Given the description of an element on the screen output the (x, y) to click on. 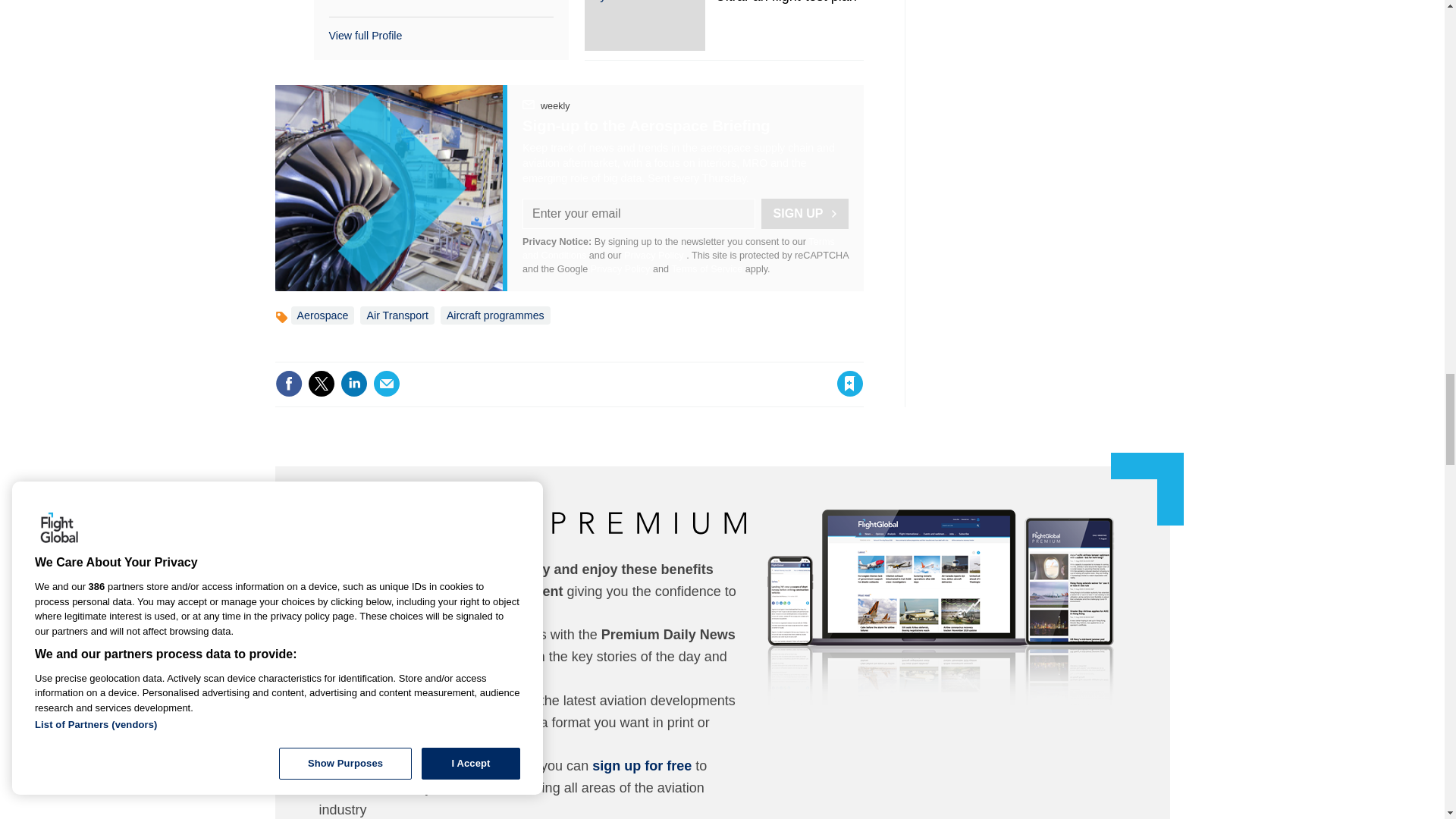
Share this on Linked in (352, 383)
Share this on Twitter (320, 383)
Share this on Facebook (288, 383)
Email this article (386, 383)
